Given the description of an element on the screen output the (x, y) to click on. 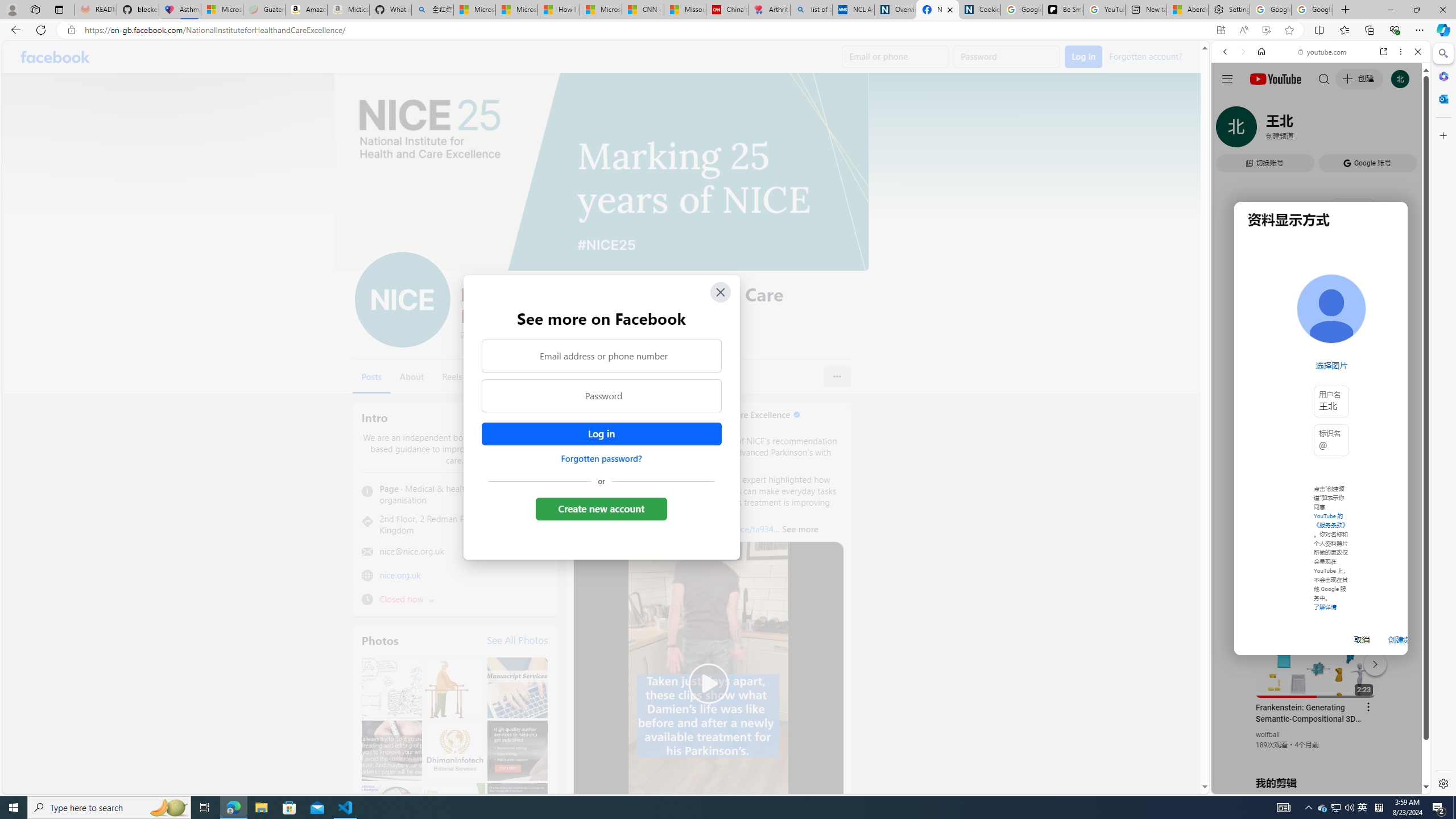
US[ju] (1249, 785)
